Given the description of an element on the screen output the (x, y) to click on. 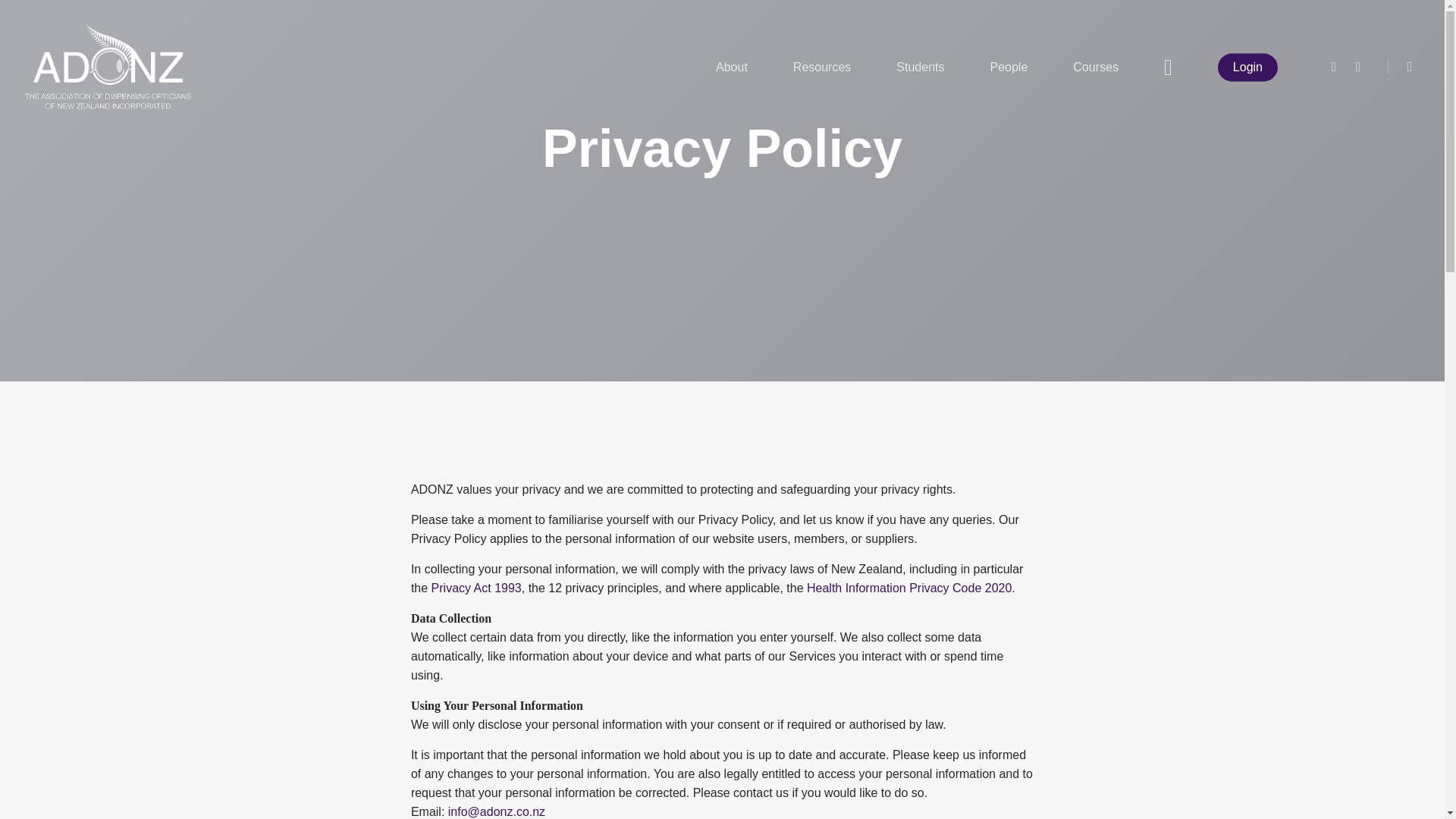
Login (1247, 66)
Courses (1095, 66)
Health Information Privacy Code 2020 (908, 587)
linkedin (1357, 67)
facebook (1333, 67)
People (1007, 66)
Privacy Act 1993 (475, 587)
Resources (821, 66)
Students (919, 66)
About (731, 66)
